Given the description of an element on the screen output the (x, y) to click on. 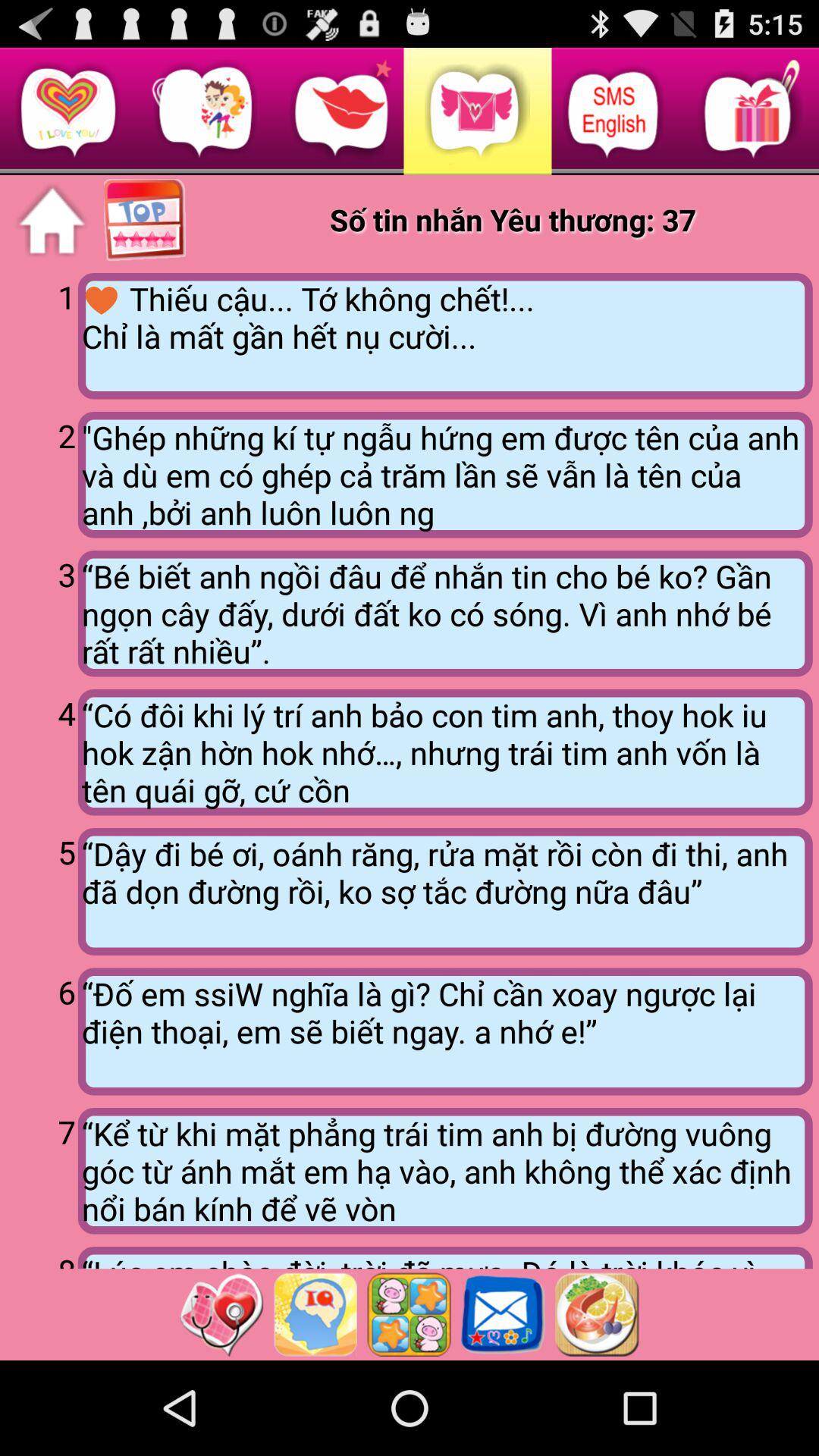
goto home page (51, 220)
